Given the description of an element on the screen output the (x, y) to click on. 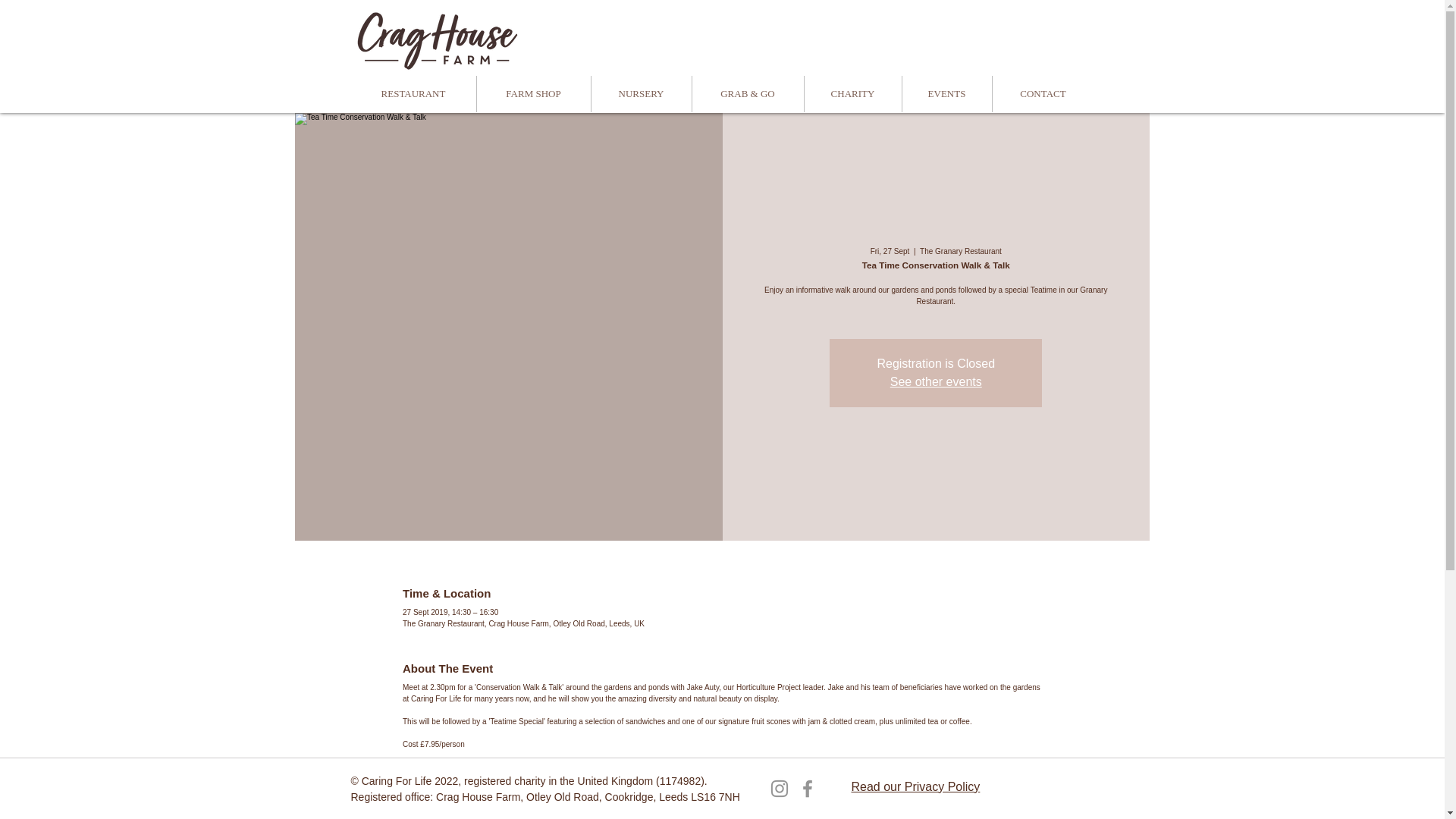
See other events (935, 381)
RESTAURANT (413, 94)
EVENTS (946, 94)
CONTACT (1042, 94)
CHARITY (852, 94)
FARM SHOP (533, 94)
Read our Privacy Policy (914, 786)
NURSERY (639, 94)
